Given the description of an element on the screen output the (x, y) to click on. 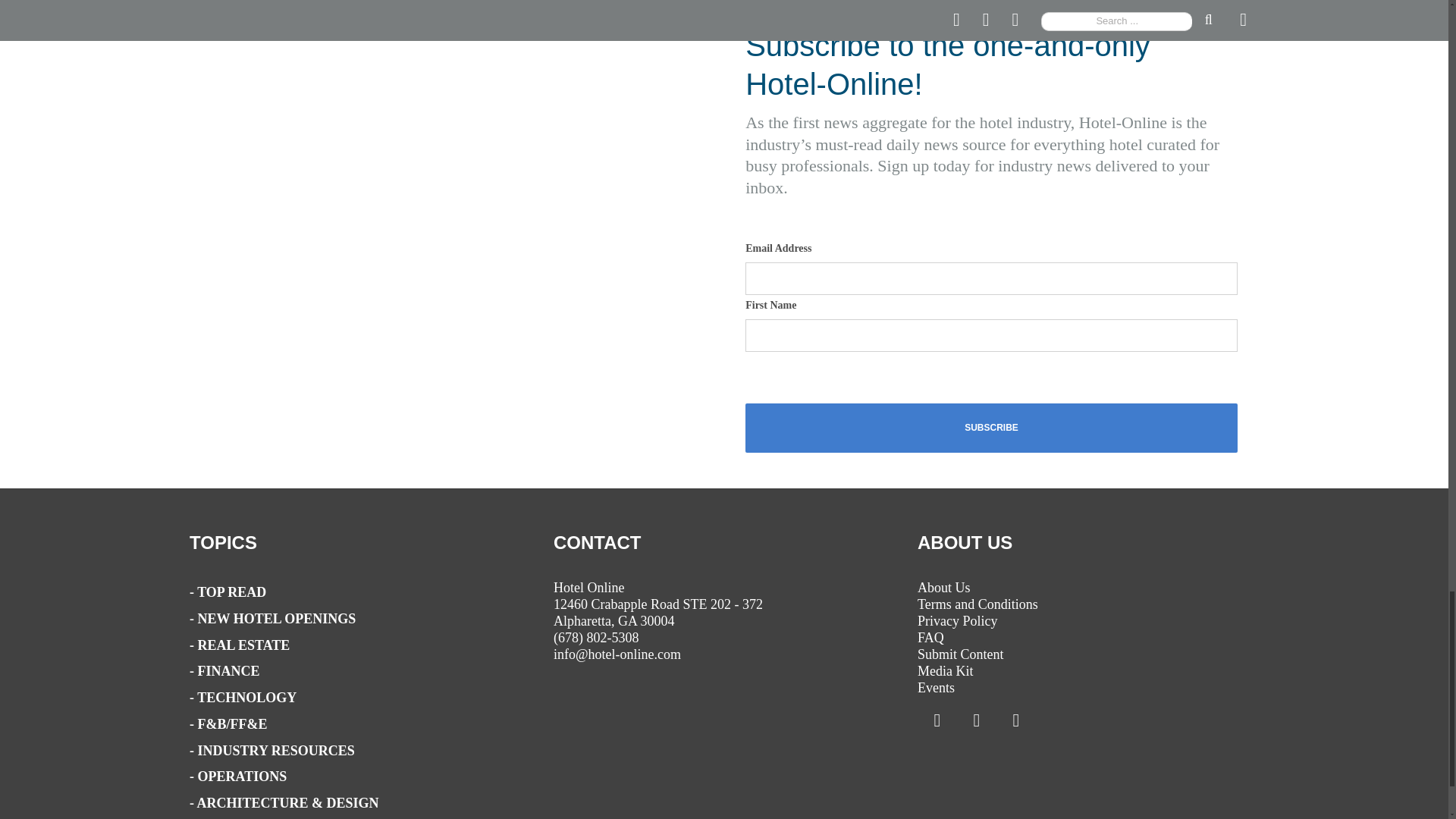
SUbscribe (991, 427)
